Given the description of an element on the screen output the (x, y) to click on. 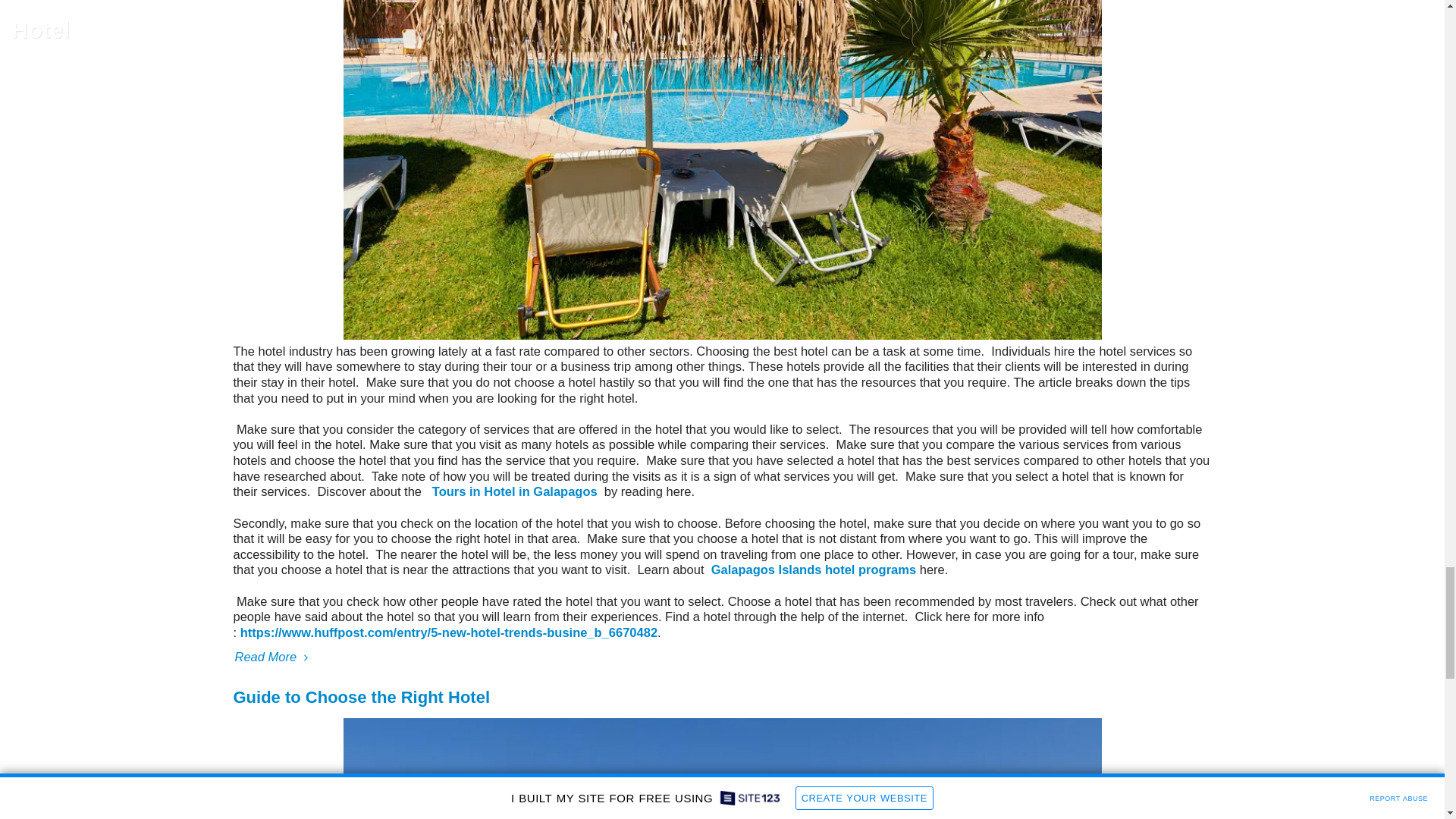
Read More   (721, 656)
 Tours in Hotel in Galapagos  (513, 490)
Galapagos Islands hotel programs (814, 569)
Guide to Choose the Right Hotel (361, 696)
